Given the description of an element on the screen output the (x, y) to click on. 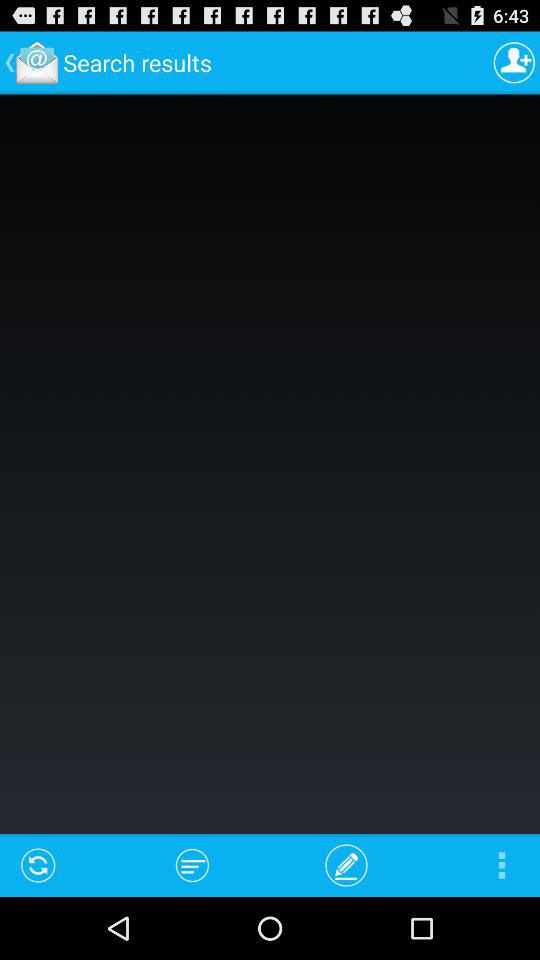
choose the app to the right of search results (514, 62)
